Given the description of an element on the screen output the (x, y) to click on. 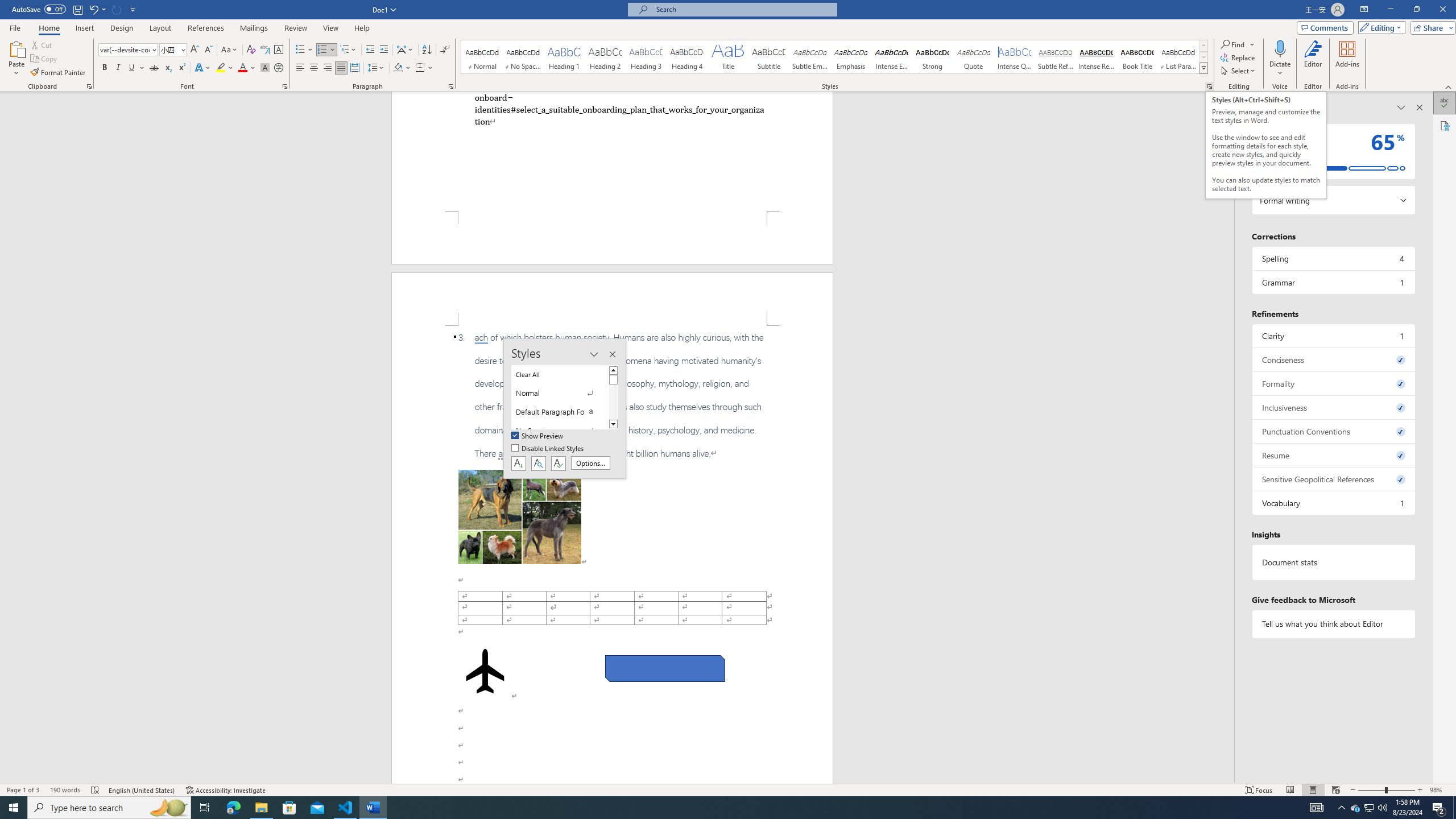
Emphasis (849, 56)
No Spacing (559, 430)
Sort... (426, 49)
AutomationID: QuickStylesGallery (834, 56)
Dictate (1280, 58)
Bold (104, 67)
Restore Down (1416, 9)
Close (1442, 9)
Design (122, 28)
Borders (419, 67)
Borders (424, 67)
Enclose Characters... (278, 67)
